Given the description of an element on the screen output the (x, y) to click on. 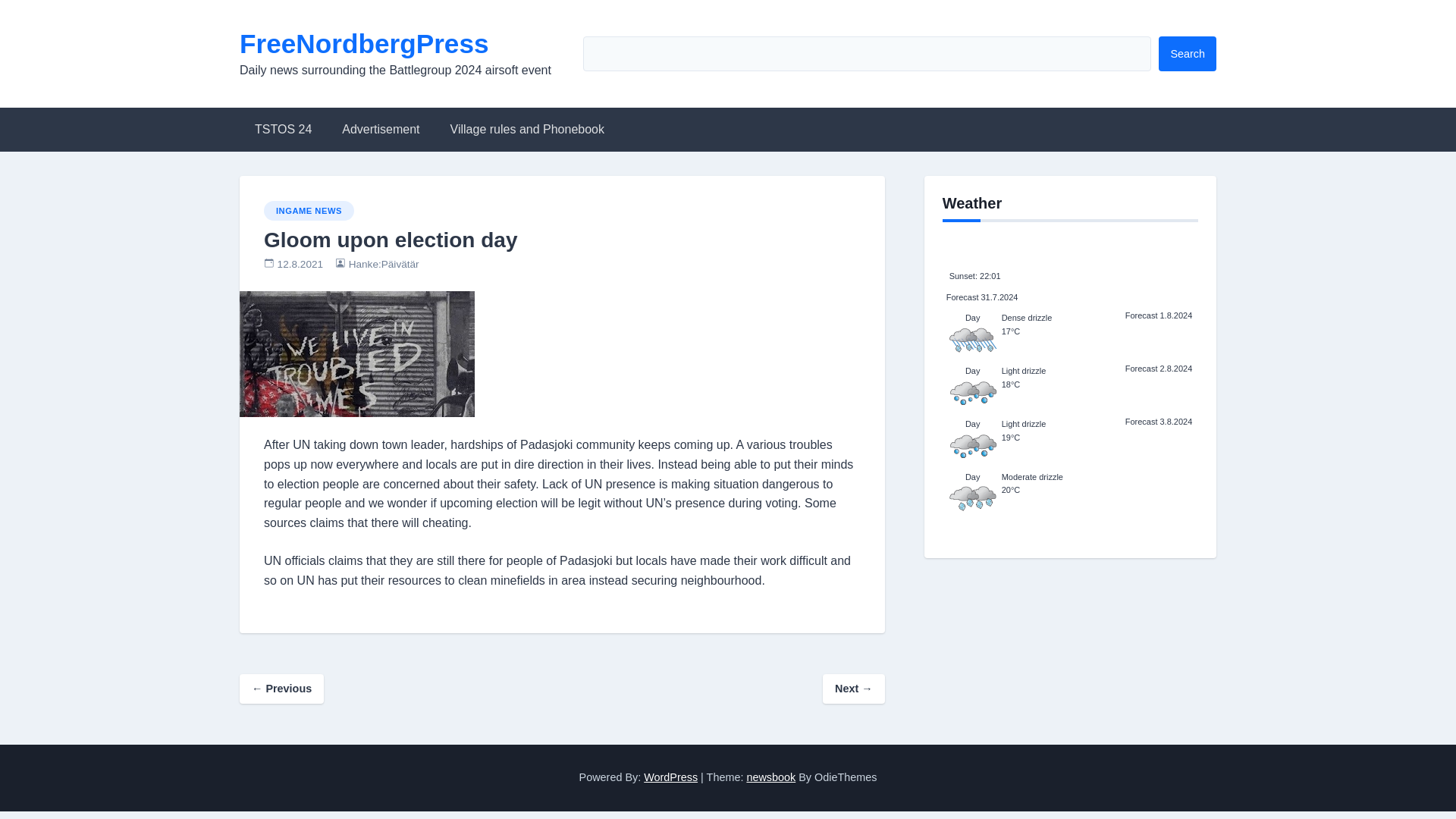
Search (1186, 53)
TSTOS 24 (283, 129)
INGAME NEWS (308, 210)
newsbook (769, 776)
Village rules and Phonebook (527, 129)
FreeNordbergPress (364, 43)
12.8.2021 (300, 264)
WordPress (670, 776)
Advertisement (379, 129)
